Given the description of an element on the screen output the (x, y) to click on. 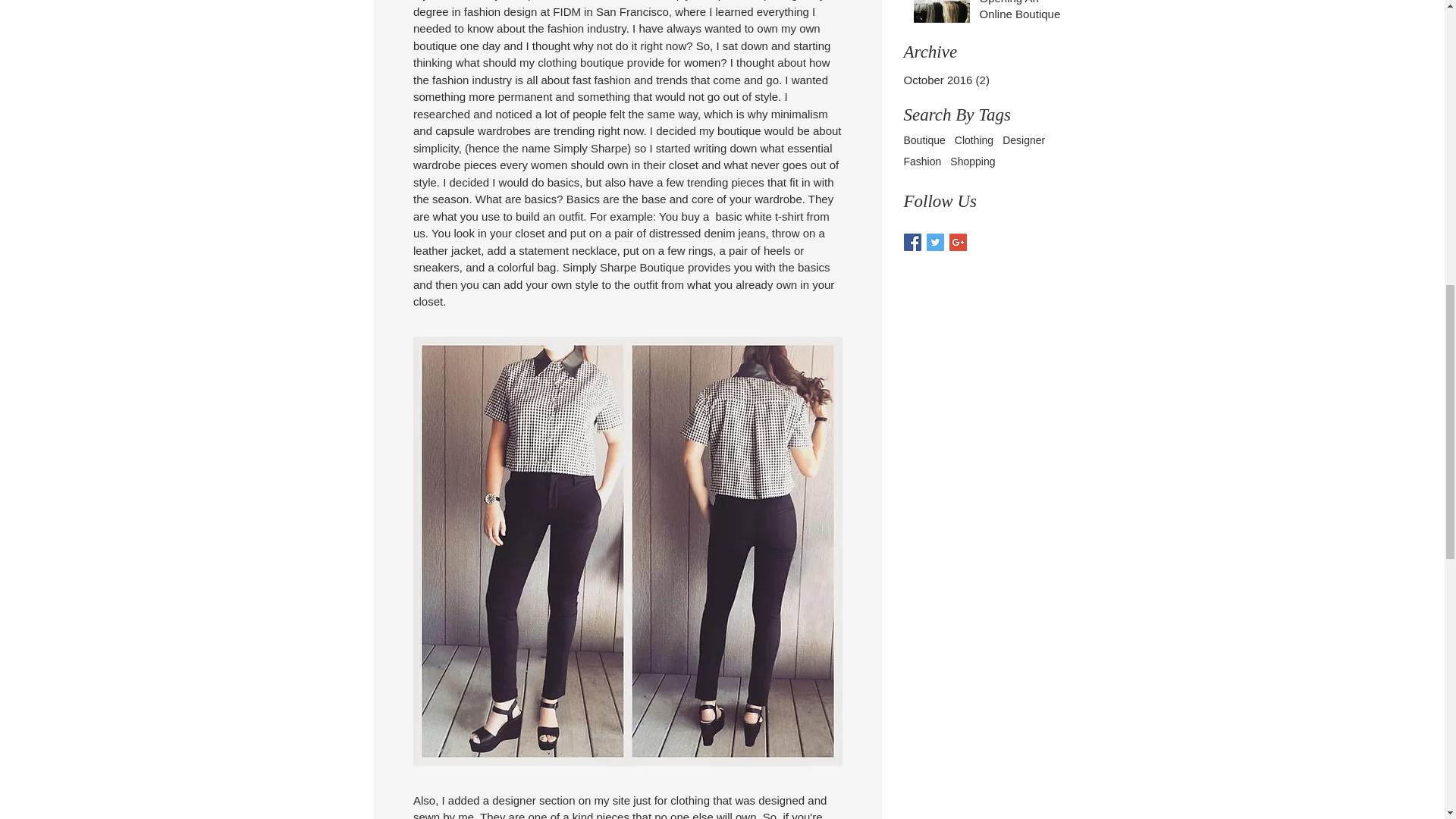
Opening An Online Boutique (1020, 13)
Fashion (923, 161)
Clothing (973, 140)
Shopping (972, 161)
Boutique (924, 140)
Designer (1024, 140)
